Given the description of an element on the screen output the (x, y) to click on. 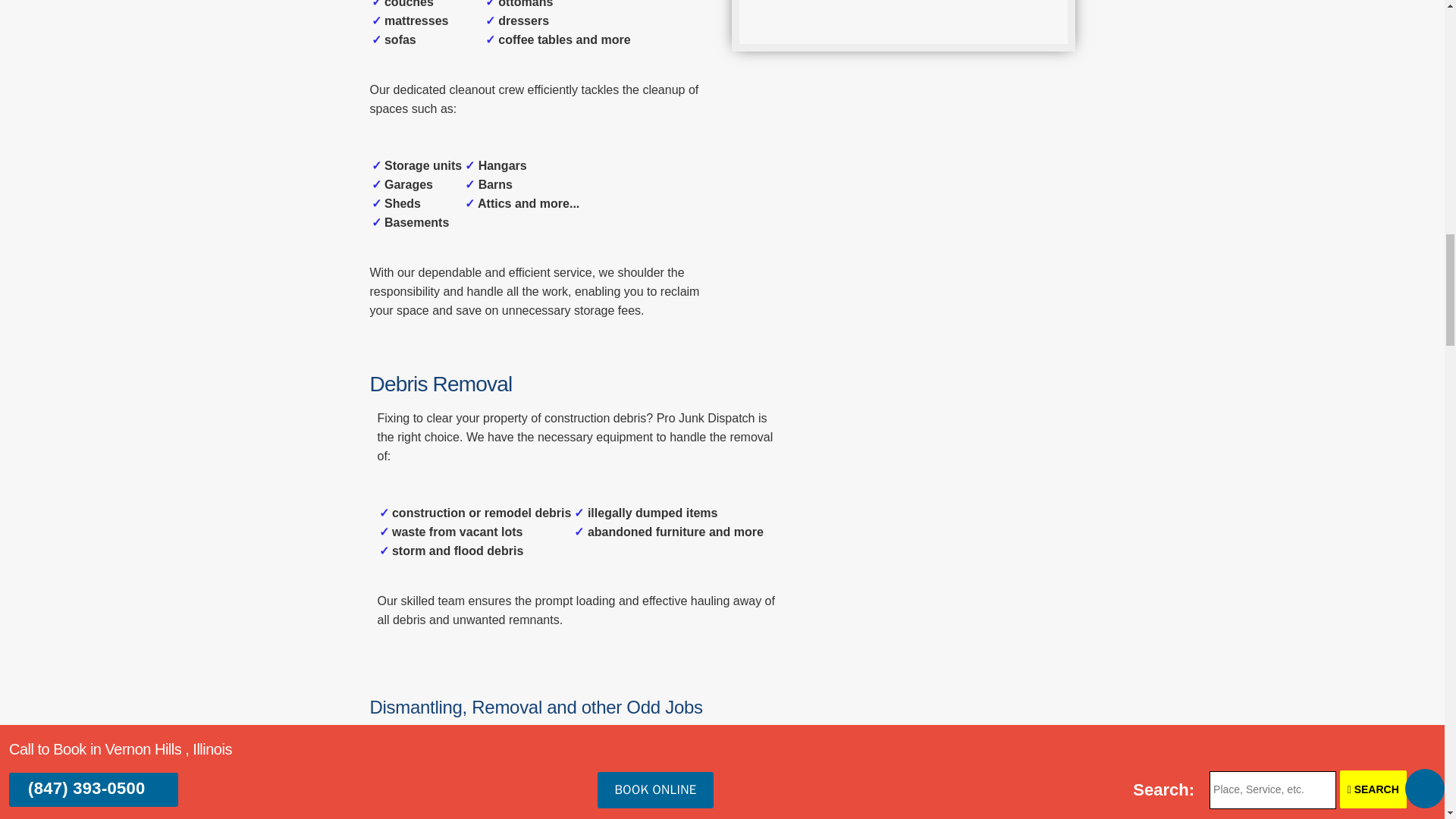
Pro Junk Dispatch team removal of dilapidated shed (934, 782)
Pro Junk Dispatch property cleanout video (902, 25)
Pro junk Dispatch truck with logo (934, 495)
